Given the description of an element on the screen output the (x, y) to click on. 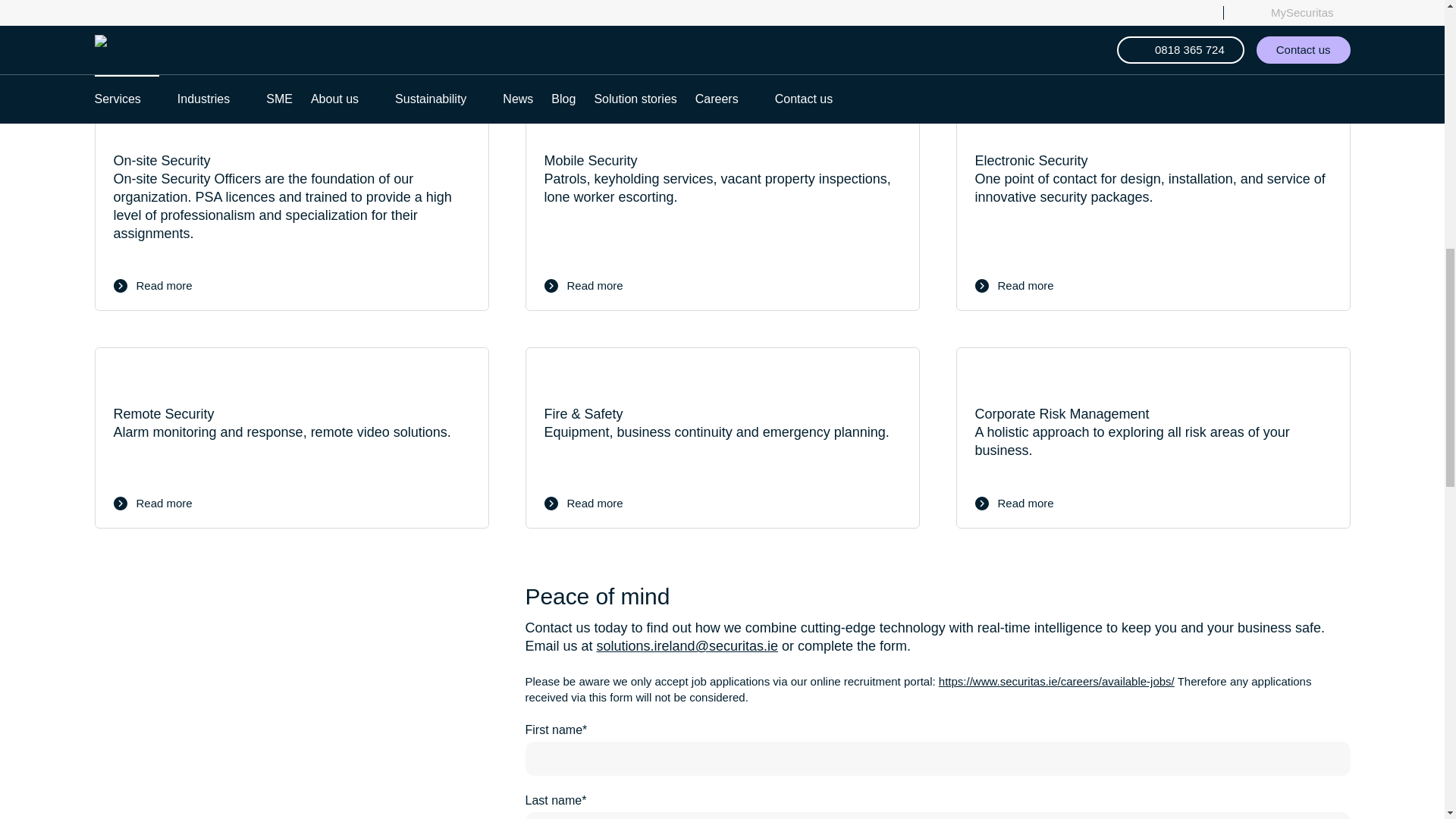
Remote Security (290, 437)
On-site Security (290, 203)
Mobile Security (721, 203)
Solution Email Address (686, 645)
Corporate Risk Management (1152, 437)
Electronic Security (1152, 203)
